Given the description of an element on the screen output the (x, y) to click on. 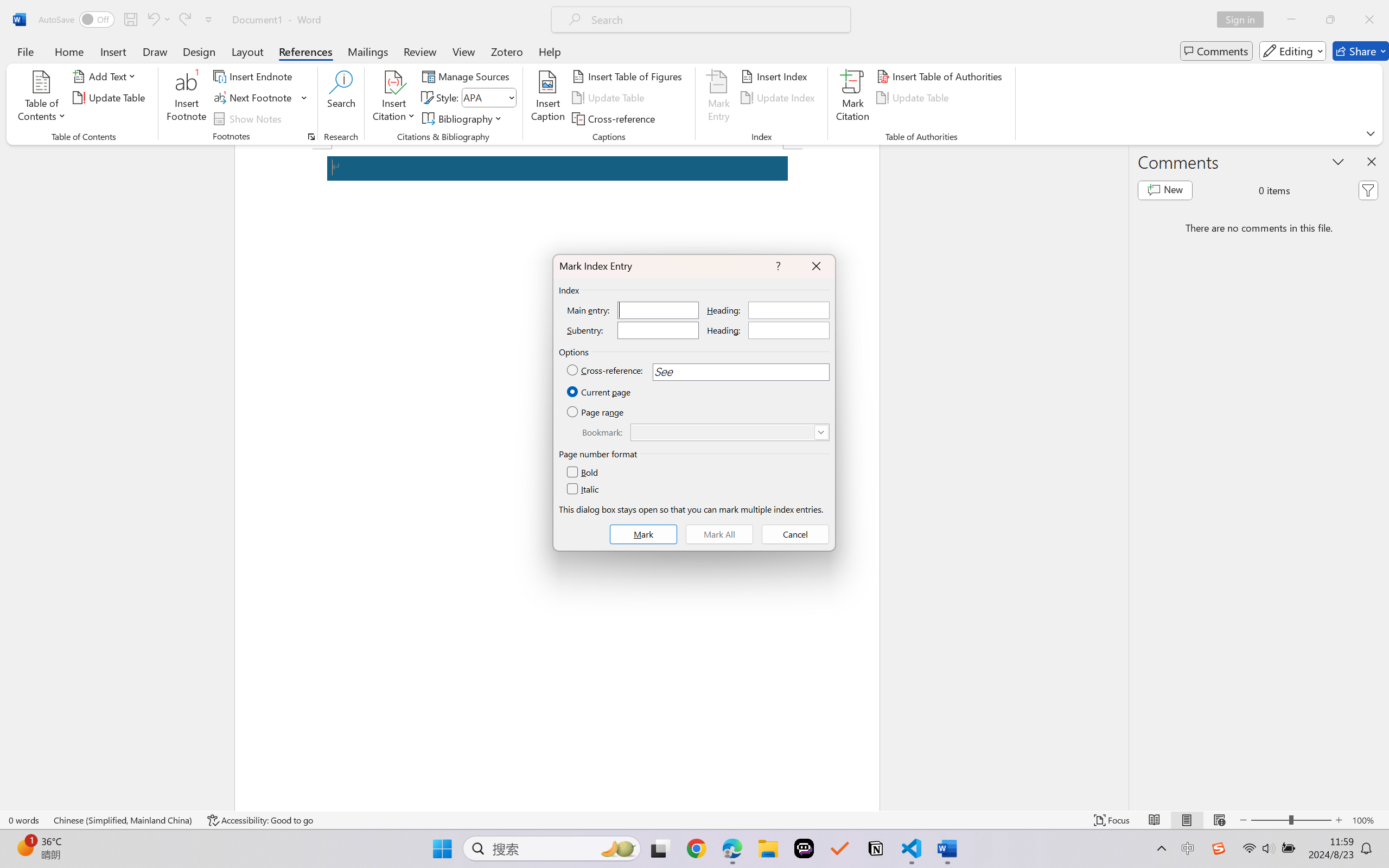
Style (483, 96)
Insert Table of Figures... (628, 75)
Mark (643, 534)
Mark Entry... (718, 97)
Insert Table of Authorities... (941, 75)
Next Footnote (253, 97)
